Given the description of an element on the screen output the (x, y) to click on. 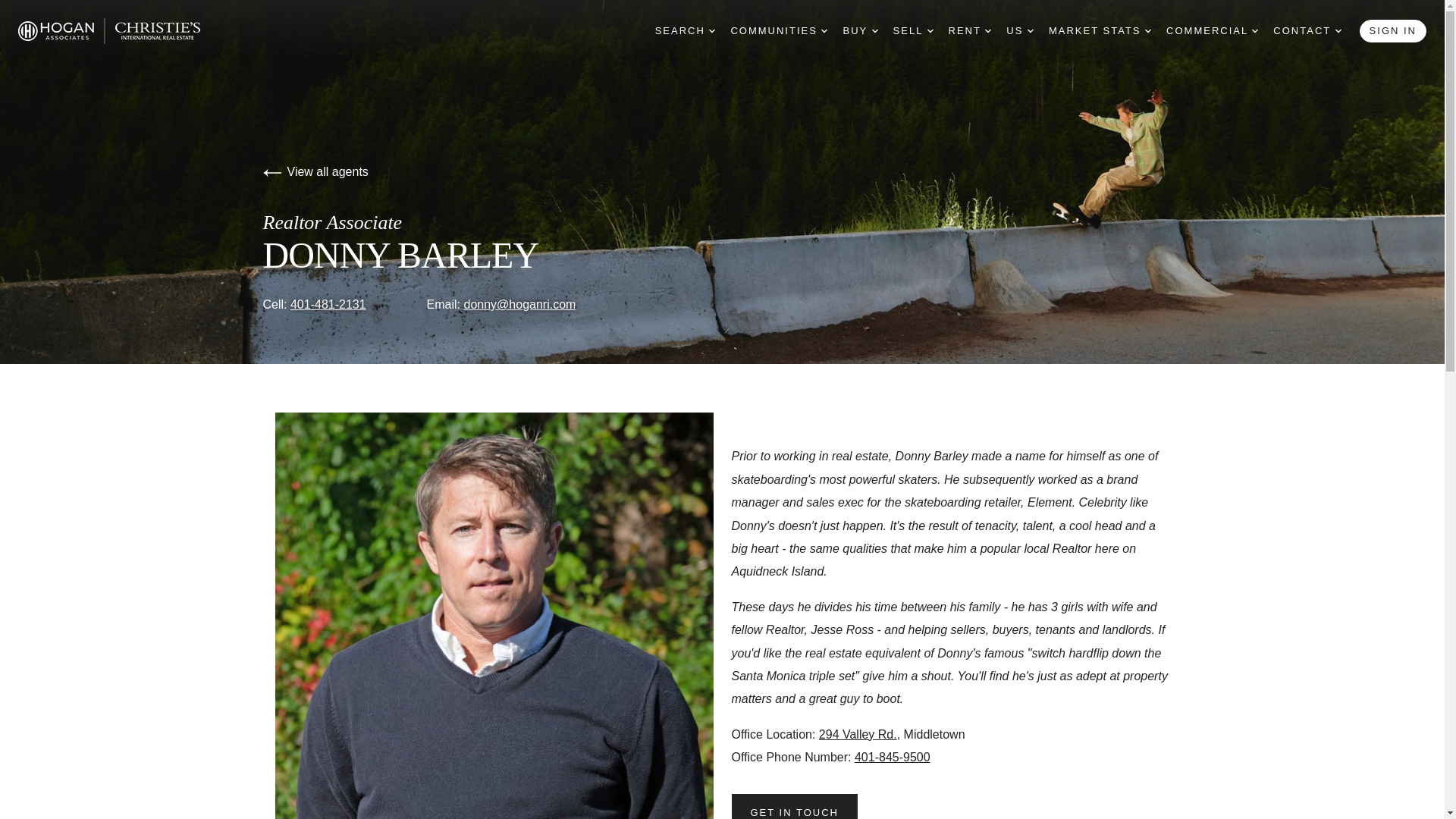
COMMUNITIES DROPDOWN ARROW (778, 31)
Arrow left (271, 172)
DROPDOWN ARROW (1147, 30)
DROPDOWN ARROW (930, 30)
SEARCH DROPDOWN ARROW (685, 31)
DROPDOWN ARROW (1254, 30)
DROPDOWN ARROW (988, 30)
DROPDOWN ARROW (711, 30)
DROPDOWN ARROW (874, 30)
DROPDOWN ARROW (1337, 30)
